Given the description of an element on the screen output the (x, y) to click on. 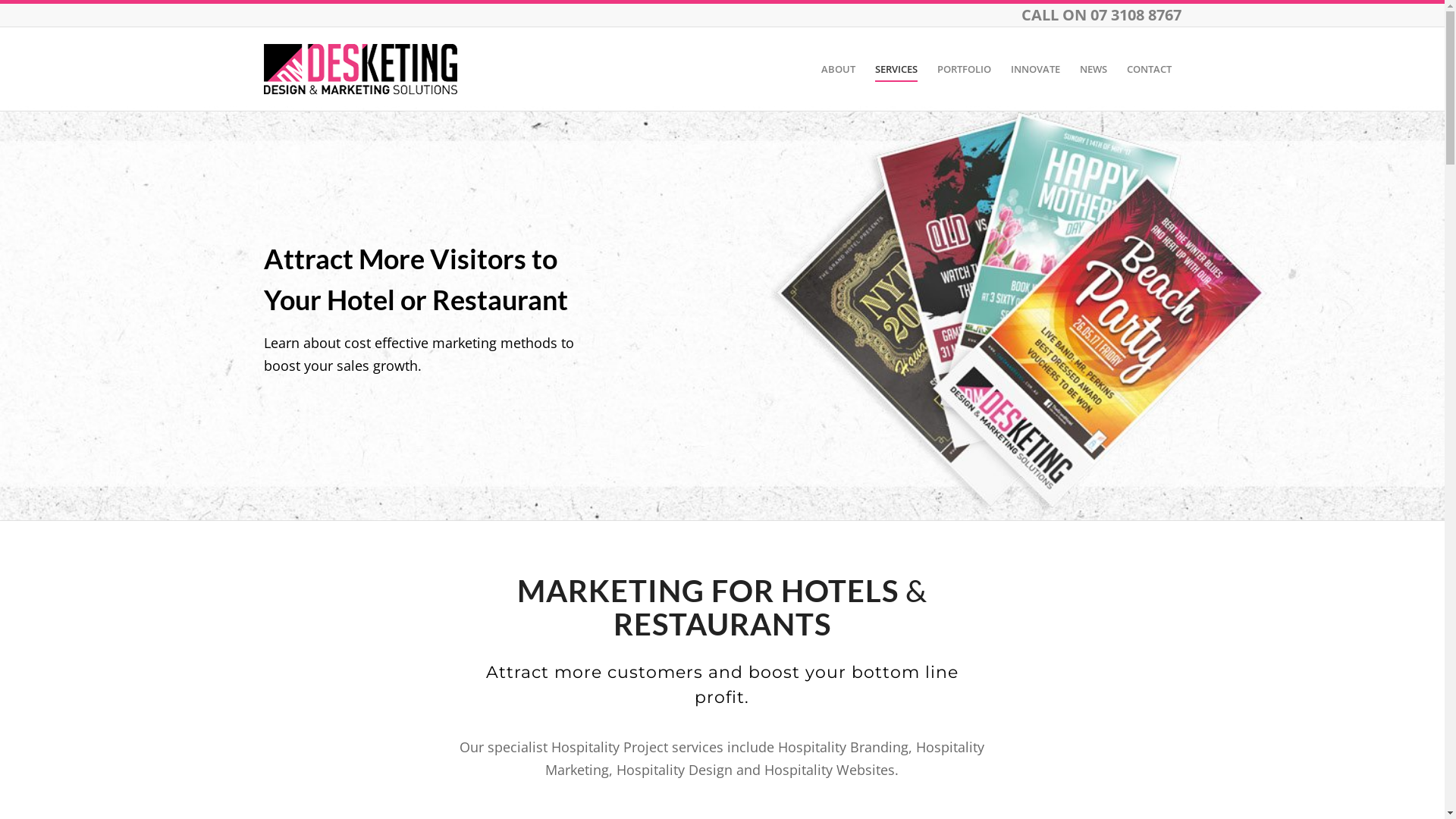
Hospitality hero Element type: hover (722, 313)
SERVICES Element type: text (895, 68)
ABOUT Element type: text (838, 68)
INNOVATE Element type: text (1035, 68)
NEWS Element type: text (1092, 68)
PORTFOLIO Element type: text (963, 68)
CALL ON 07 3108 8767 Element type: text (1100, 14)
CONTACT Element type: text (1148, 68)
